Given the description of an element on the screen output the (x, y) to click on. 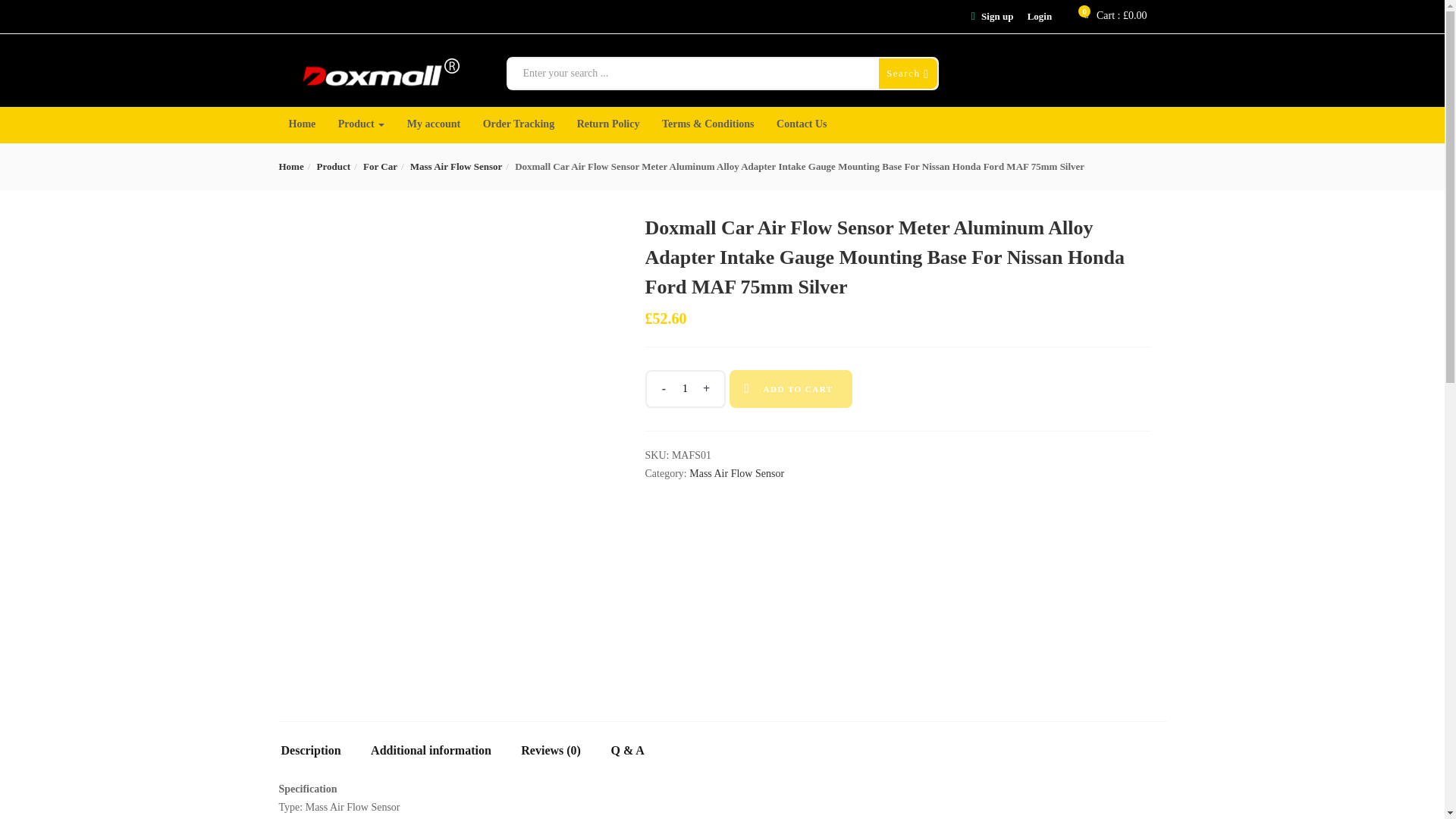
View your shopping cart (1120, 15)
Login (1039, 16)
Sign up (997, 16)
